Given the description of an element on the screen output the (x, y) to click on. 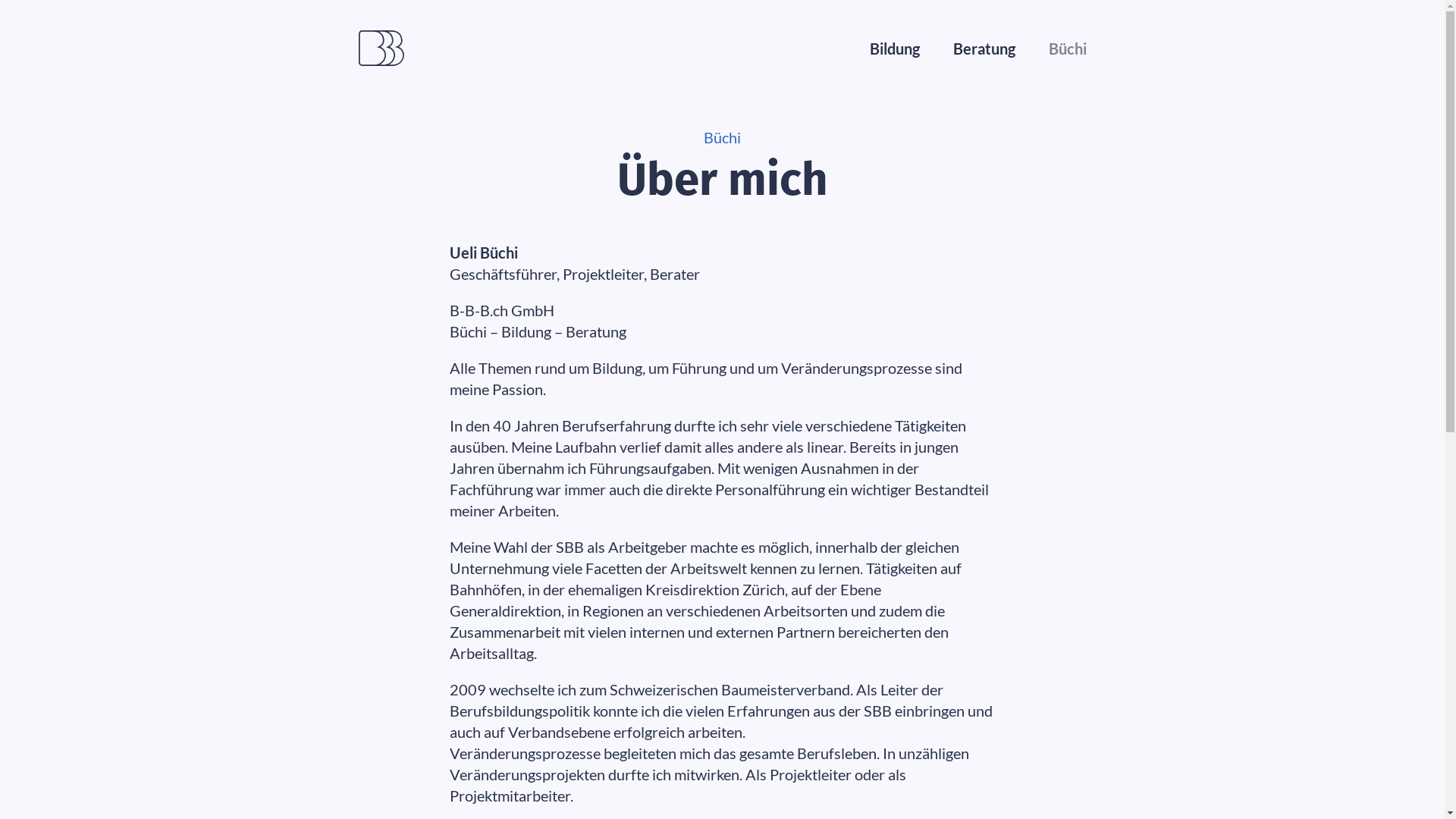
Beratung Element type: text (983, 48)
Bildung Element type: text (894, 48)
